Given the description of an element on the screen output the (x, y) to click on. 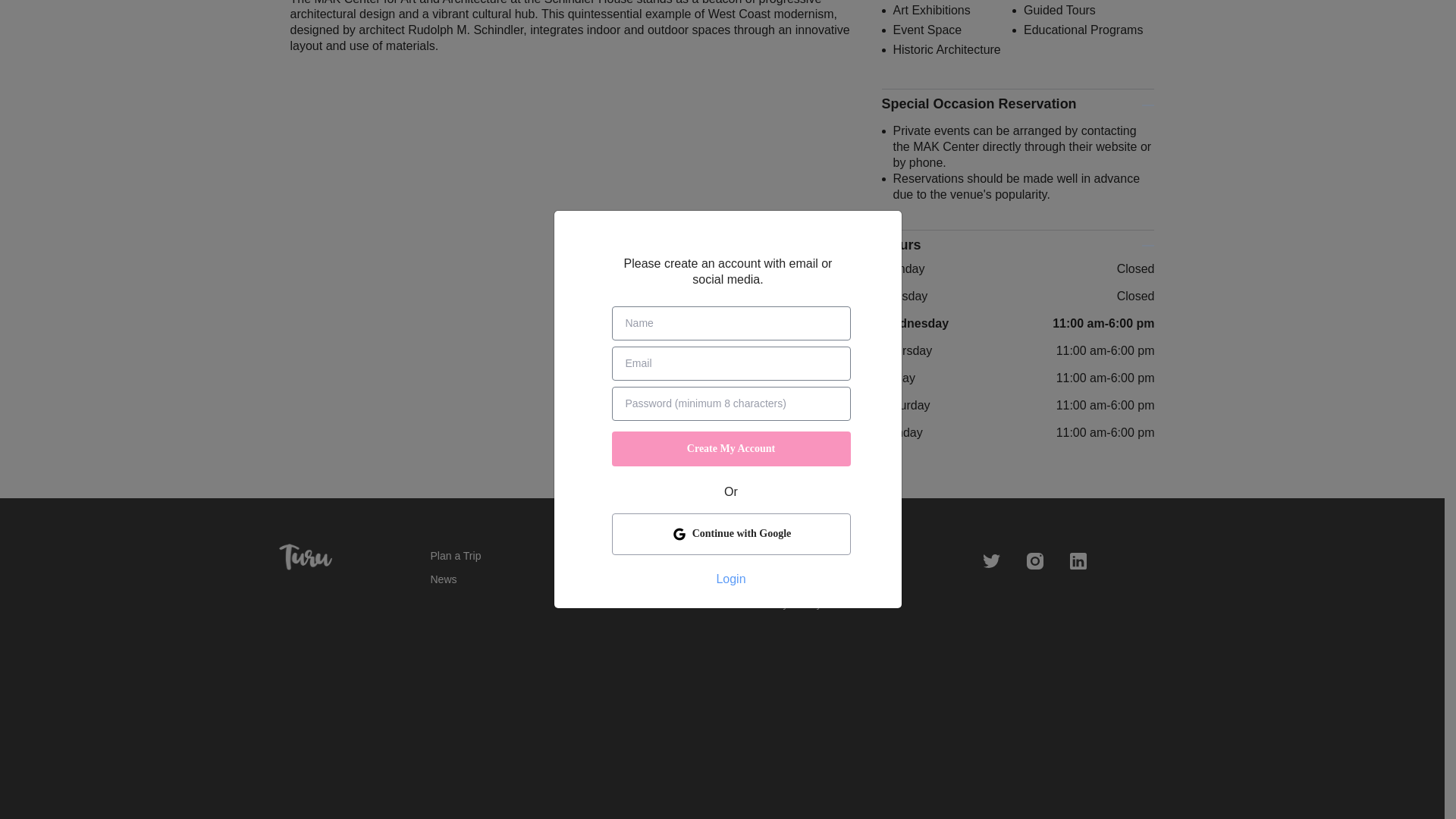
Special Occasion Reservation (1017, 104)
